Given the description of an element on the screen output the (x, y) to click on. 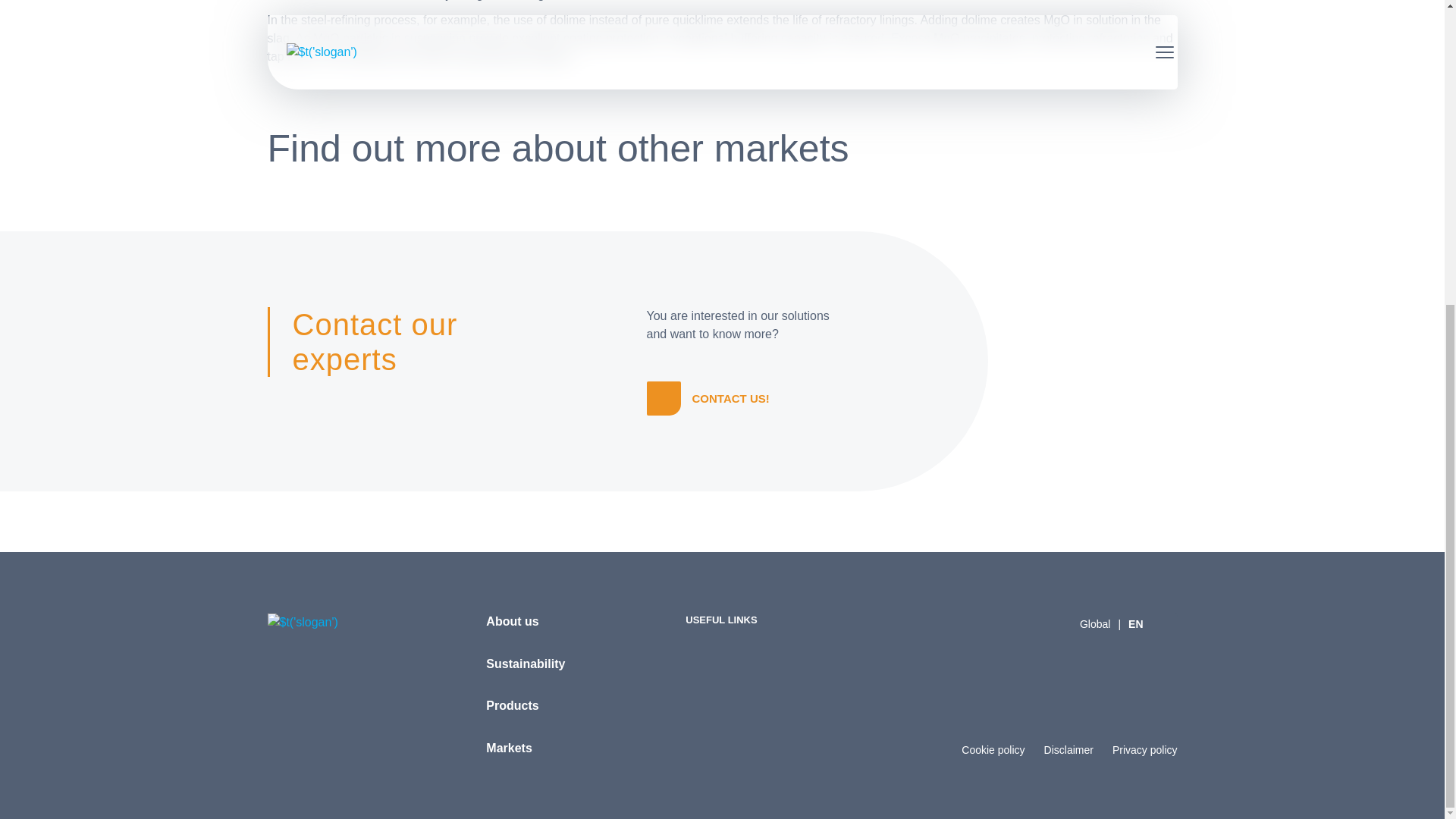
Markets (1120, 623)
Disclaimer (508, 747)
CONTACT US! (1068, 749)
About us (713, 398)
Cookie policy (512, 621)
Products (992, 749)
Privacy policy (512, 705)
Sustainability (1144, 749)
